Given the description of an element on the screen output the (x, y) to click on. 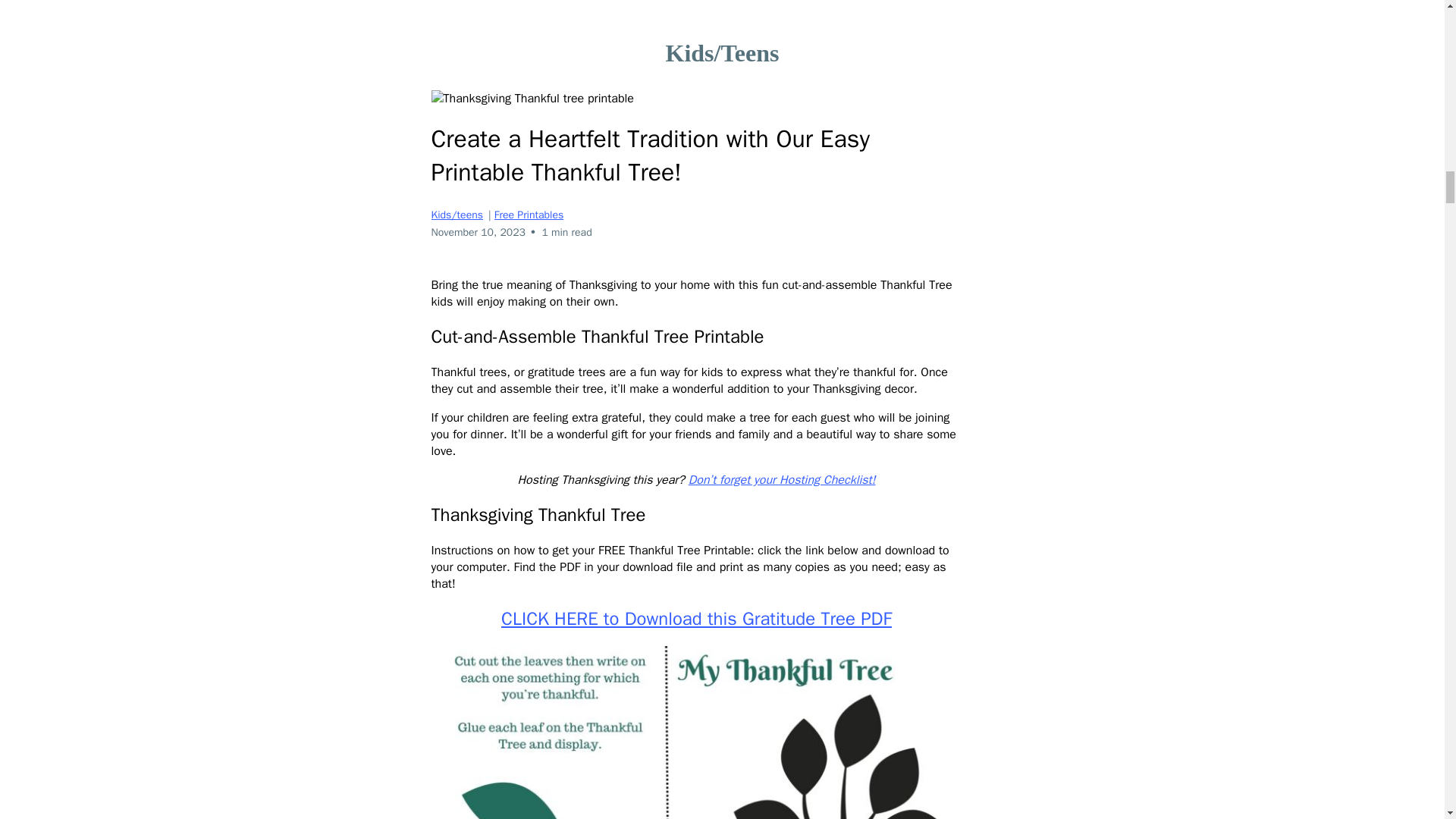
thankful tree printable cut and assemble (695, 732)
